Given the description of an element on the screen output the (x, y) to click on. 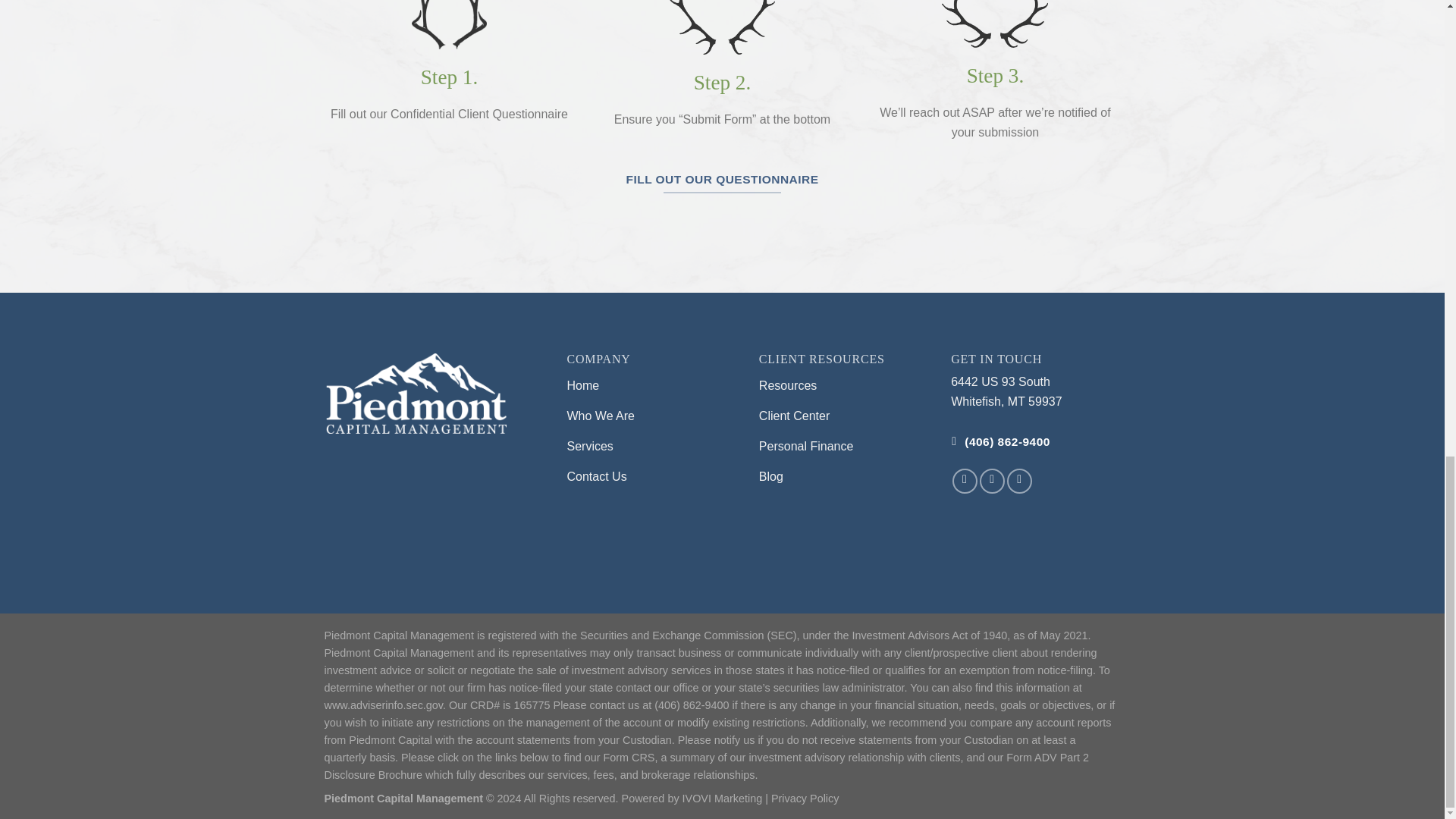
Contact Us (651, 478)
Services (651, 448)
Follow on Facebook (964, 480)
Home (651, 387)
FILL OUT OUR QUESTIONNAIRE (722, 179)
Personal Finance (843, 448)
Form ADV Part 2 Disclosure Brochure (706, 766)
Client Center (843, 417)
Privacy Policy (805, 798)
Resources (843, 387)
Form CRS (627, 757)
Blog (843, 478)
Follow on LinkedIn (1019, 480)
Follow on Twitter (991, 480)
Who We Are (651, 417)
